Given the description of an element on the screen output the (x, y) to click on. 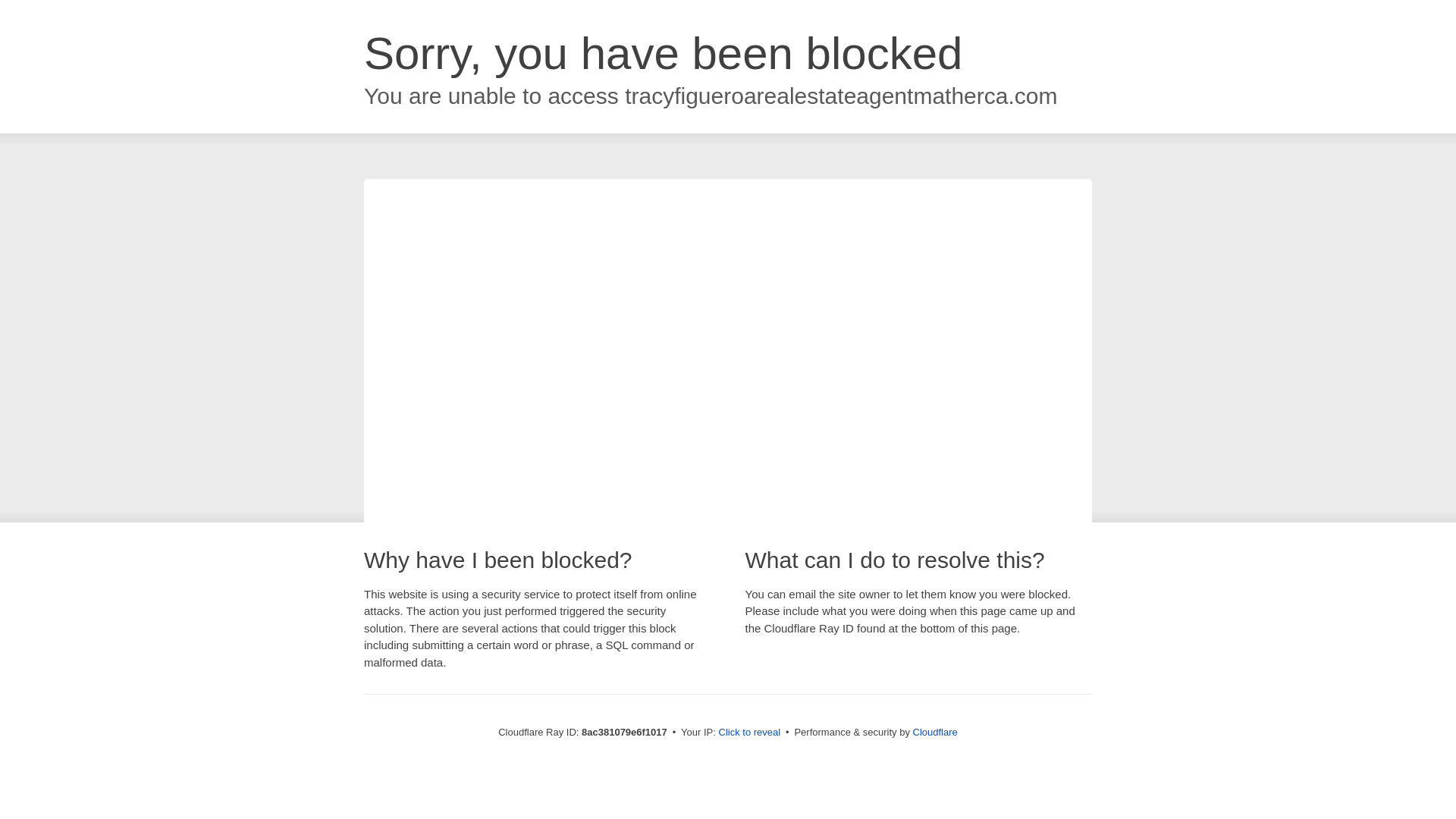
Click to reveal (749, 732)
Cloudflare (935, 731)
